Given the description of an element on the screen output the (x, y) to click on. 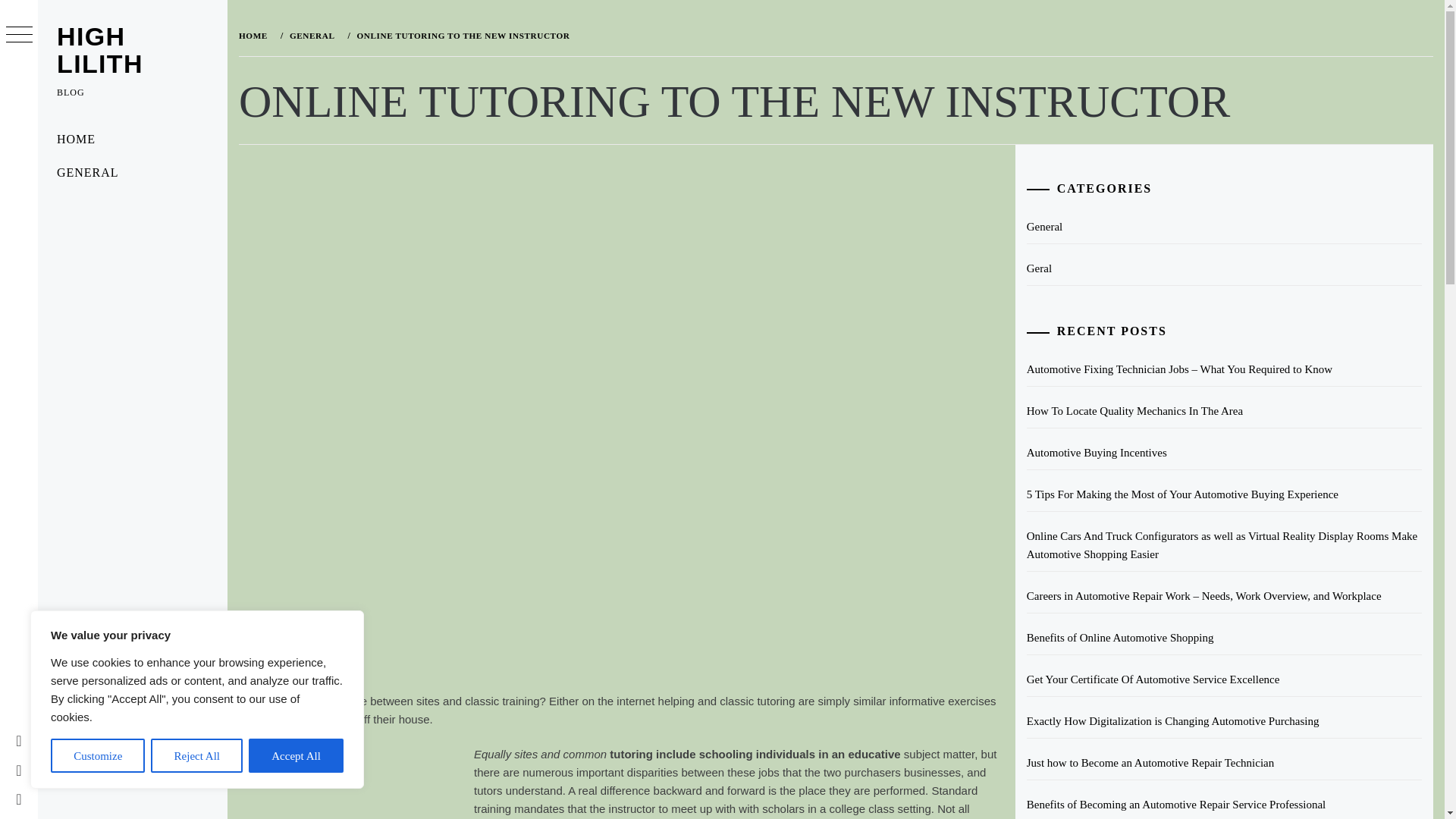
ONLINE TUTORING TO THE NEW INSTRUCTOR (461, 35)
Customize (97, 755)
Reject All (197, 755)
GENERAL (310, 35)
HOME (132, 139)
HIGH LILITH (99, 49)
GENERAL (132, 172)
Accept All (295, 755)
HOME (255, 35)
